Given the description of an element on the screen output the (x, y) to click on. 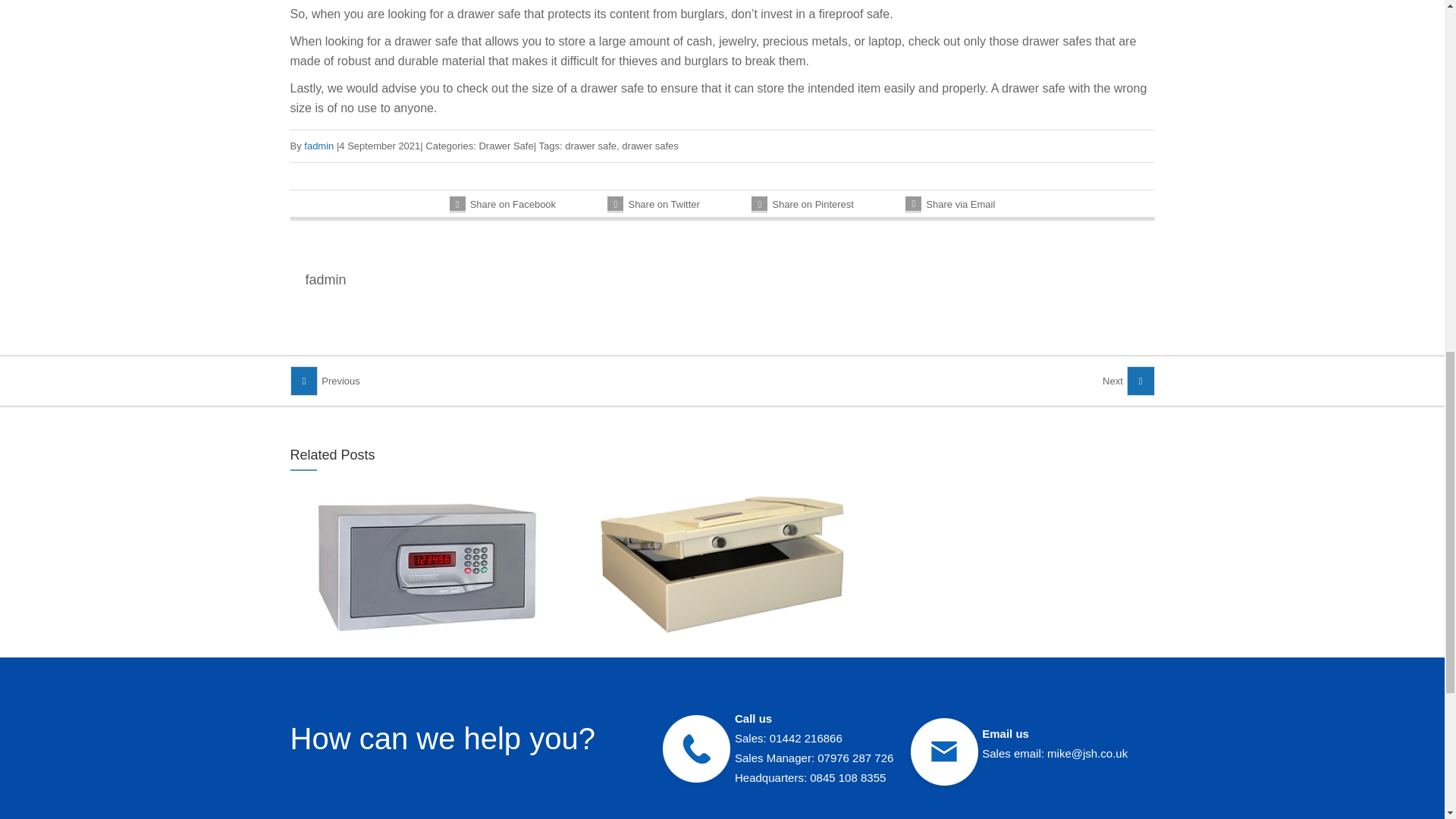
fadmin (325, 279)
fadmin (318, 145)
Previous (324, 380)
0845 108 8355 (847, 777)
Posts by fadmin (325, 279)
Share on Facebook (502, 204)
Share on Pinterest (802, 204)
Share via Email (949, 204)
drawer safes (649, 145)
07976 287 726 (854, 757)
Share on Twitter (652, 204)
Next (1128, 380)
01442 216866 (806, 738)
drawer safe (589, 145)
Drawer Safe (505, 145)
